Given the description of an element on the screen output the (x, y) to click on. 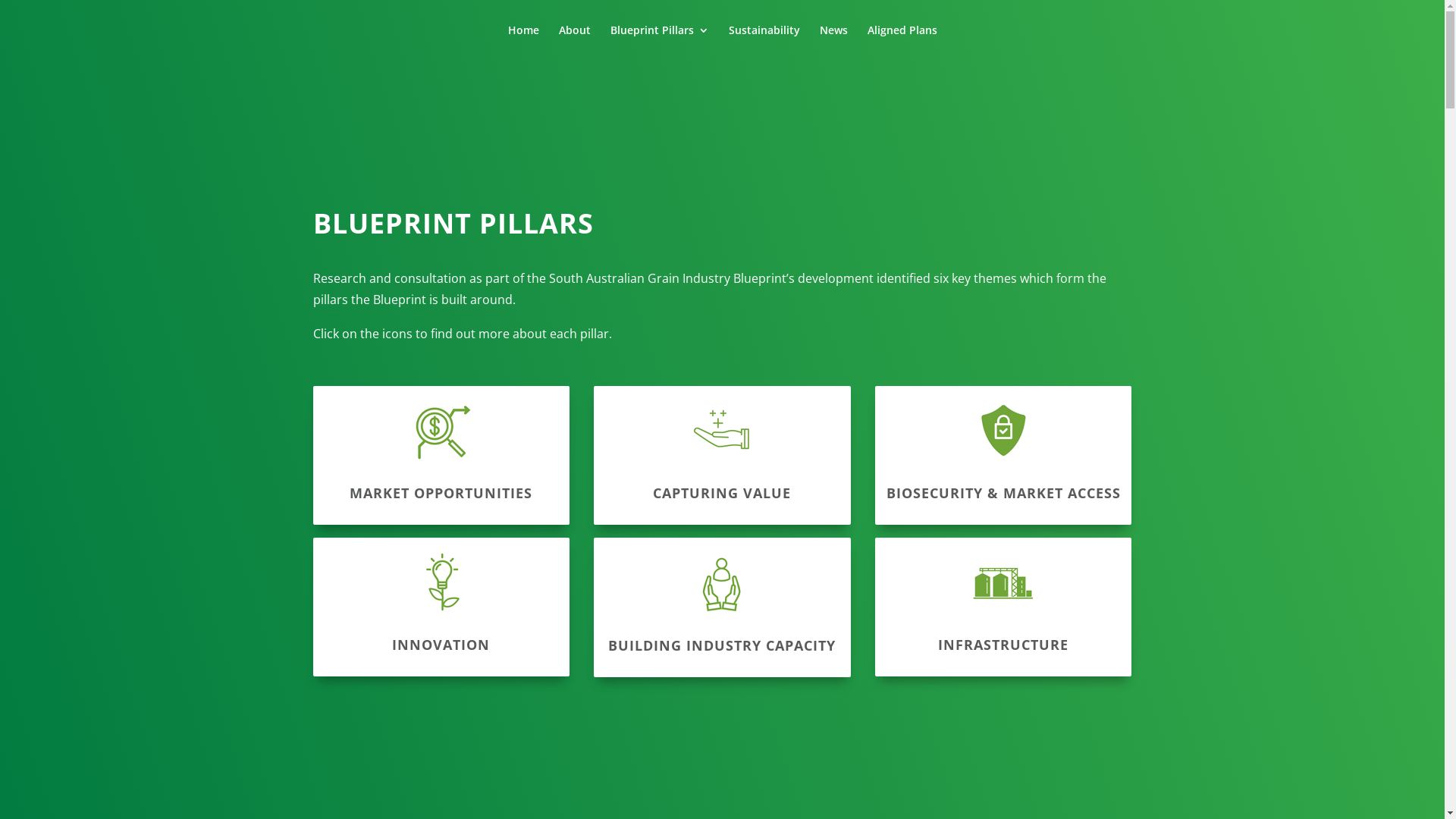
BIOSECURITY & MARKET ACCESS Element type: text (1003, 492)
MARKET OPPORTUNITIES Element type: text (440, 492)
About Element type: text (573, 42)
CAPTURING VALUE Element type: text (721, 492)
News Element type: text (833, 42)
BUILDING INDUSTRY CAPACITY Element type: text (721, 645)
INNOVATION Element type: text (440, 644)
Home Element type: text (523, 42)
Aligned Plans Element type: text (902, 42)
Blueprint Pillars Element type: text (658, 42)
Sustainability Element type: text (763, 42)
INFRASTRUCTURE Element type: text (1003, 644)
